Given the description of an element on the screen output the (x, y) to click on. 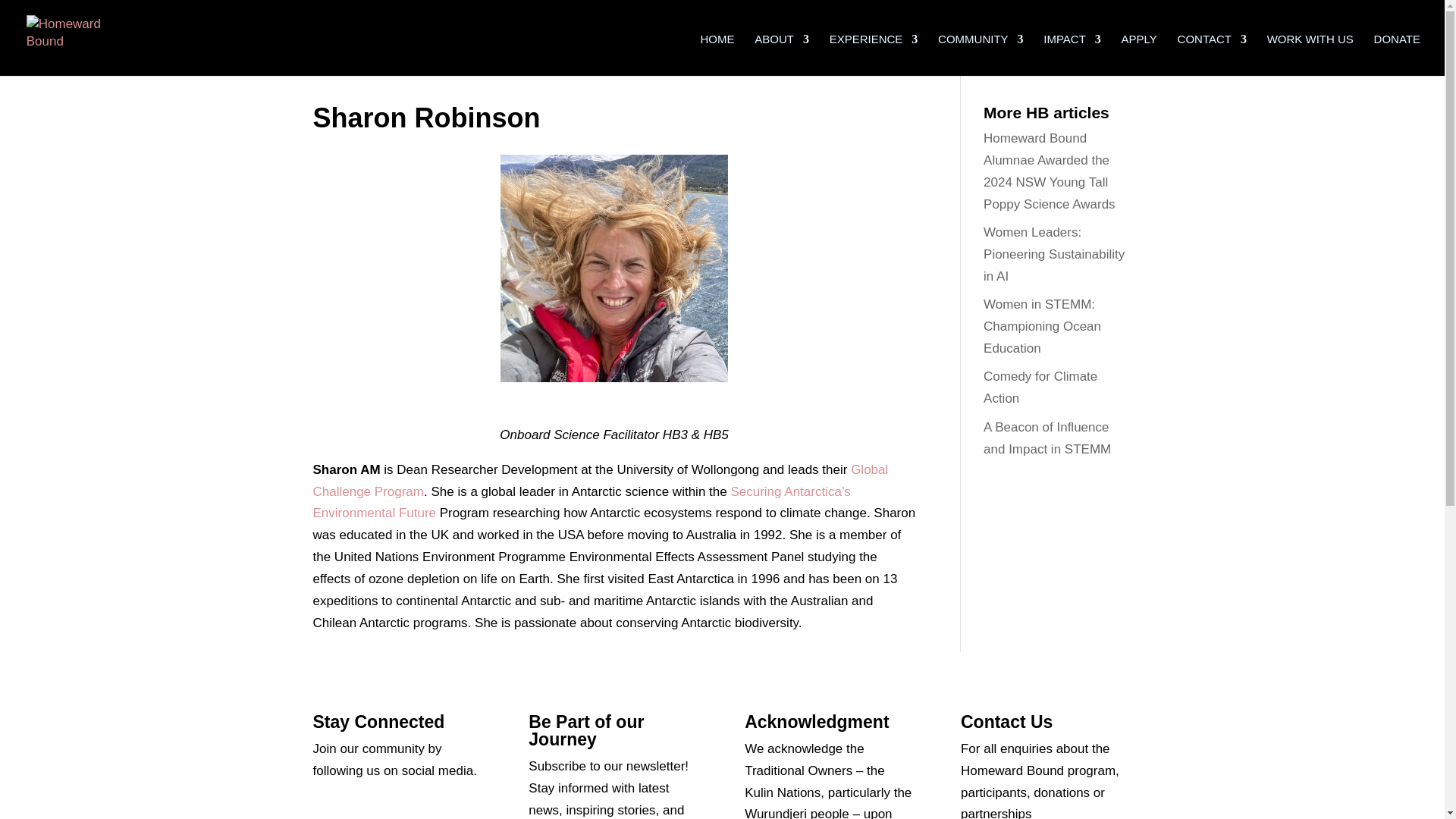
Follow on LinkedIn (415, 811)
Follow on Youtube (445, 811)
Follow on Facebook (324, 811)
HOME (716, 50)
Follow on Instagram (384, 811)
COMMUNITY (980, 50)
EXPERIENCE (873, 50)
ABOUT (781, 50)
Follow on Twitter (354, 811)
IMPACT (1071, 50)
